Given the description of an element on the screen output the (x, y) to click on. 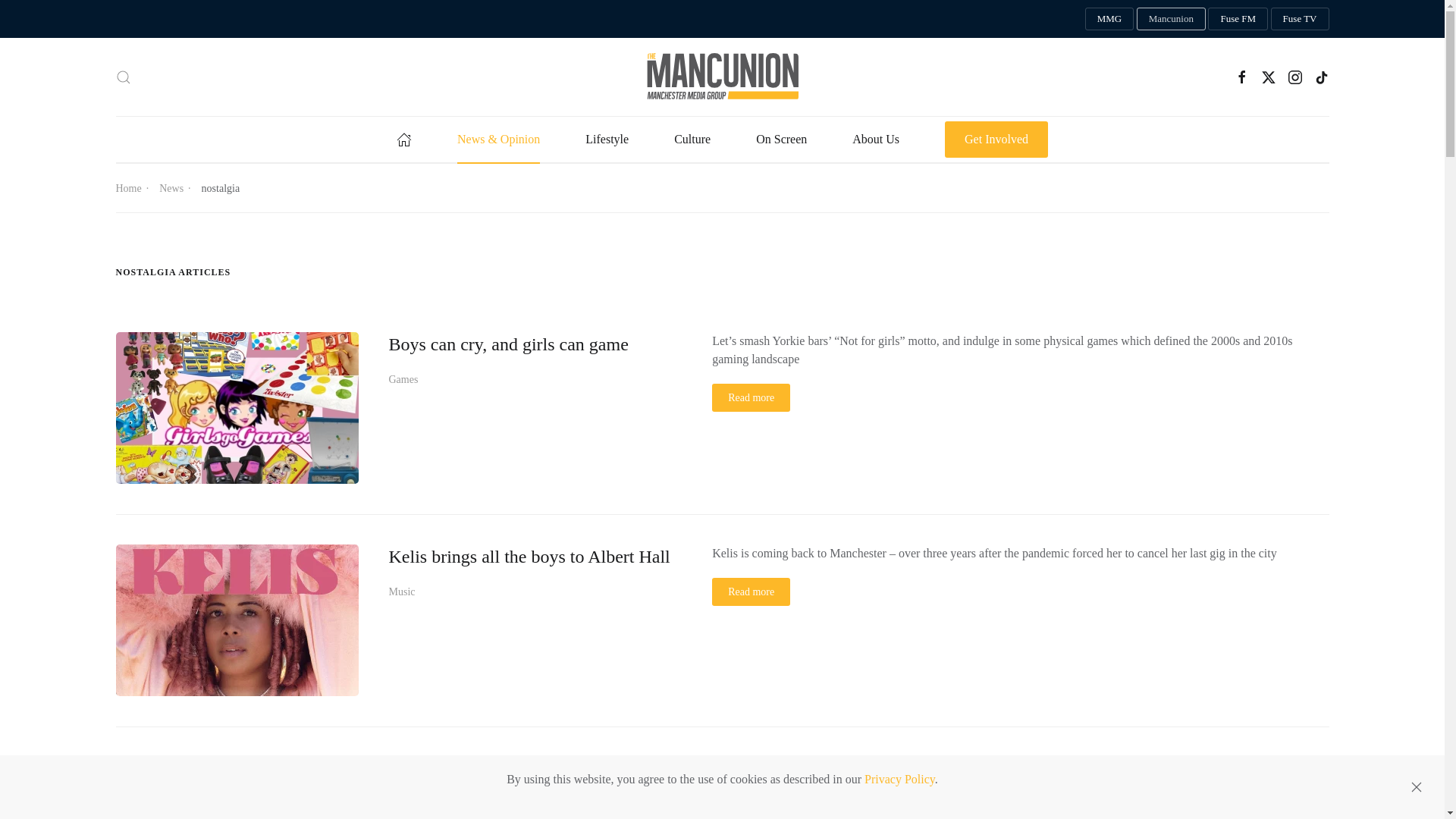
Manchester Fuse FM (1238, 18)
Manchester Fuse TV (1300, 18)
Manchester University Mancunion Newspaper (1171, 18)
Fuse FM (1238, 18)
Mancunion (1171, 18)
Manchester Media Group (1109, 18)
Fuse TV (1300, 18)
MMG (1109, 18)
